Given the description of an element on the screen output the (x, y) to click on. 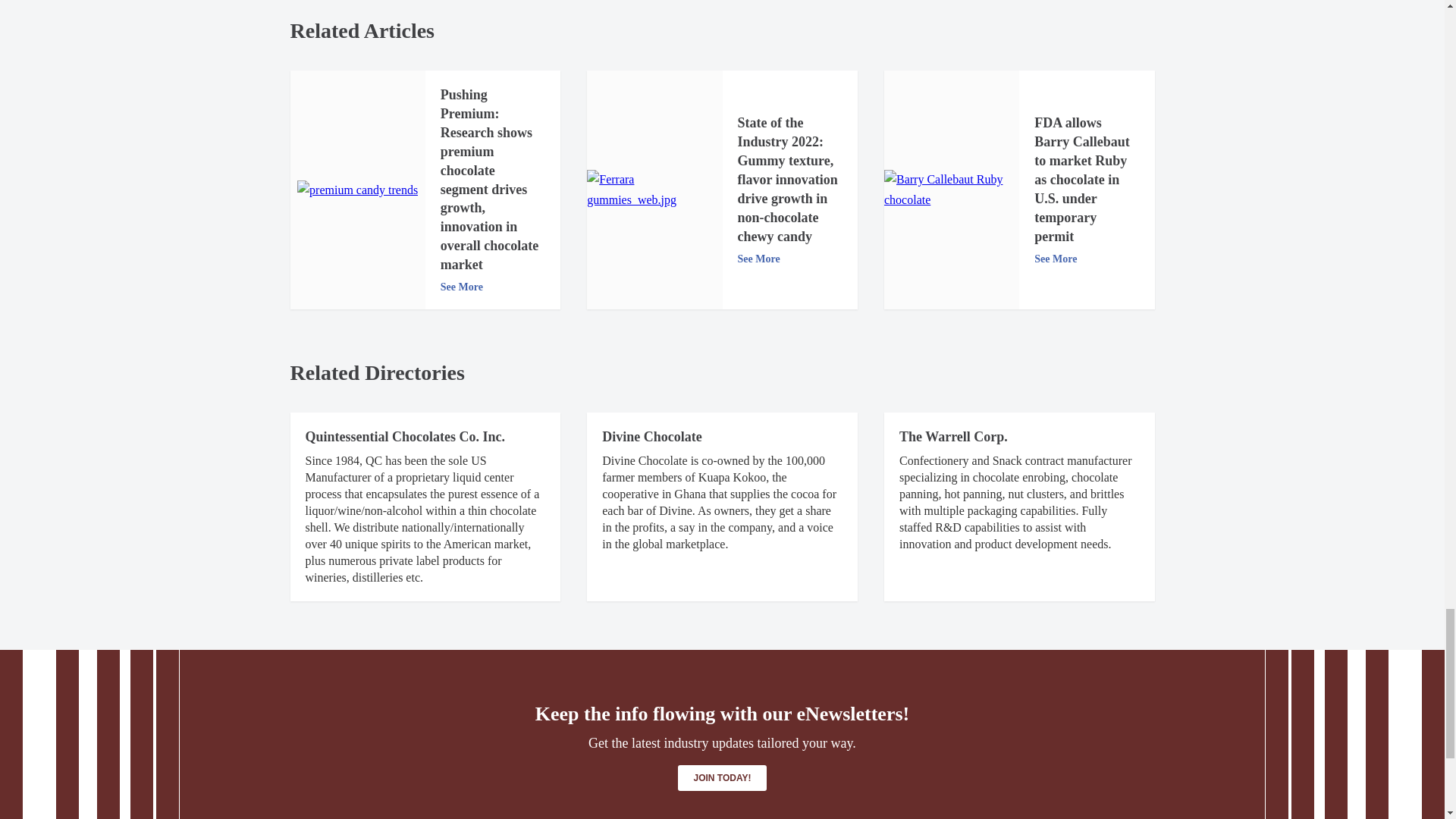
Barry Callebaut Ruby chocolate (951, 189)
